Given the description of an element on the screen output the (x, y) to click on. 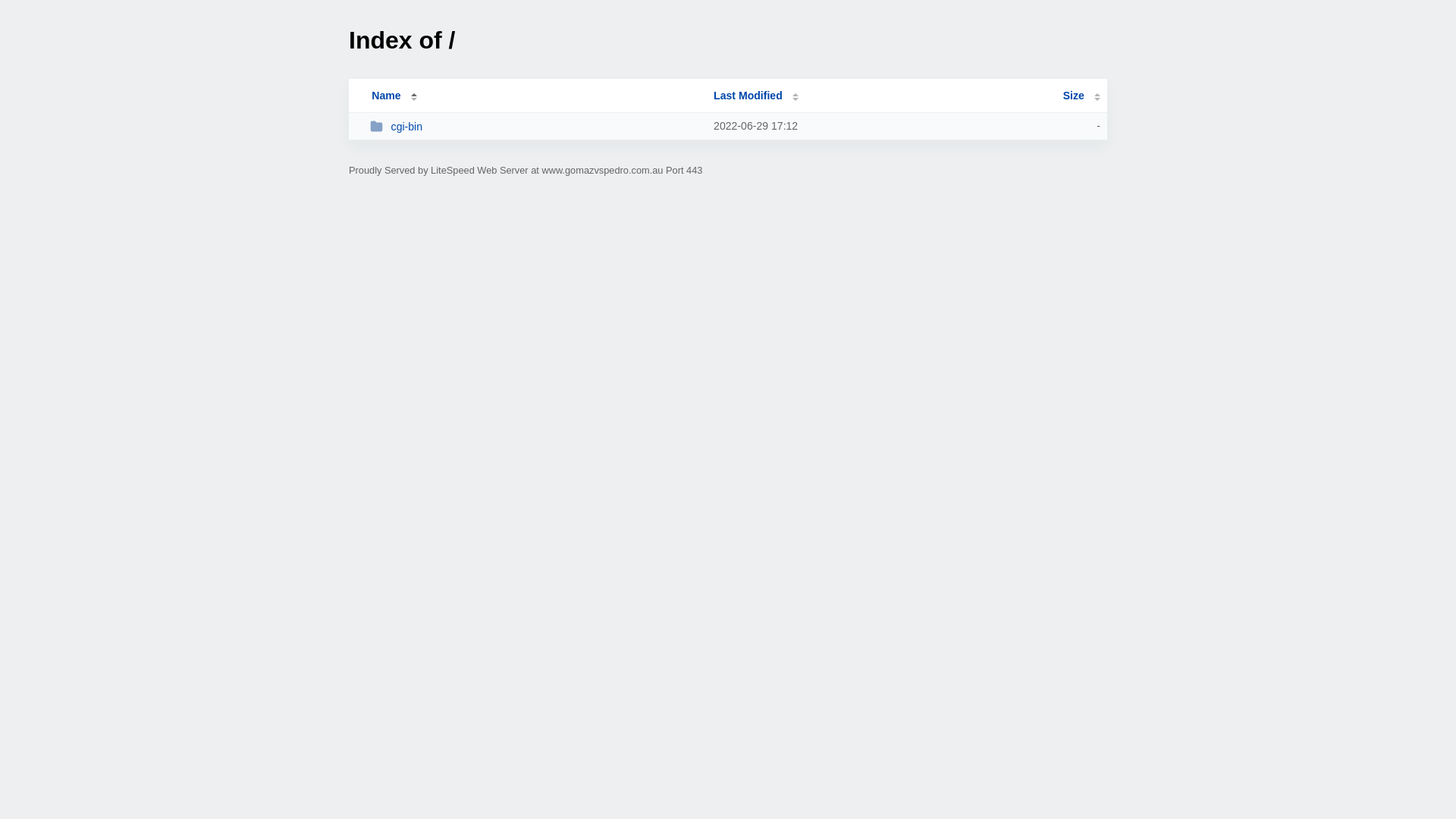
cgi-bin Element type: text (534, 125)
Last Modified Element type: text (755, 95)
Name Element type: text (385, 95)
Size Element type: text (1081, 95)
